Given the description of an element on the screen output the (x, y) to click on. 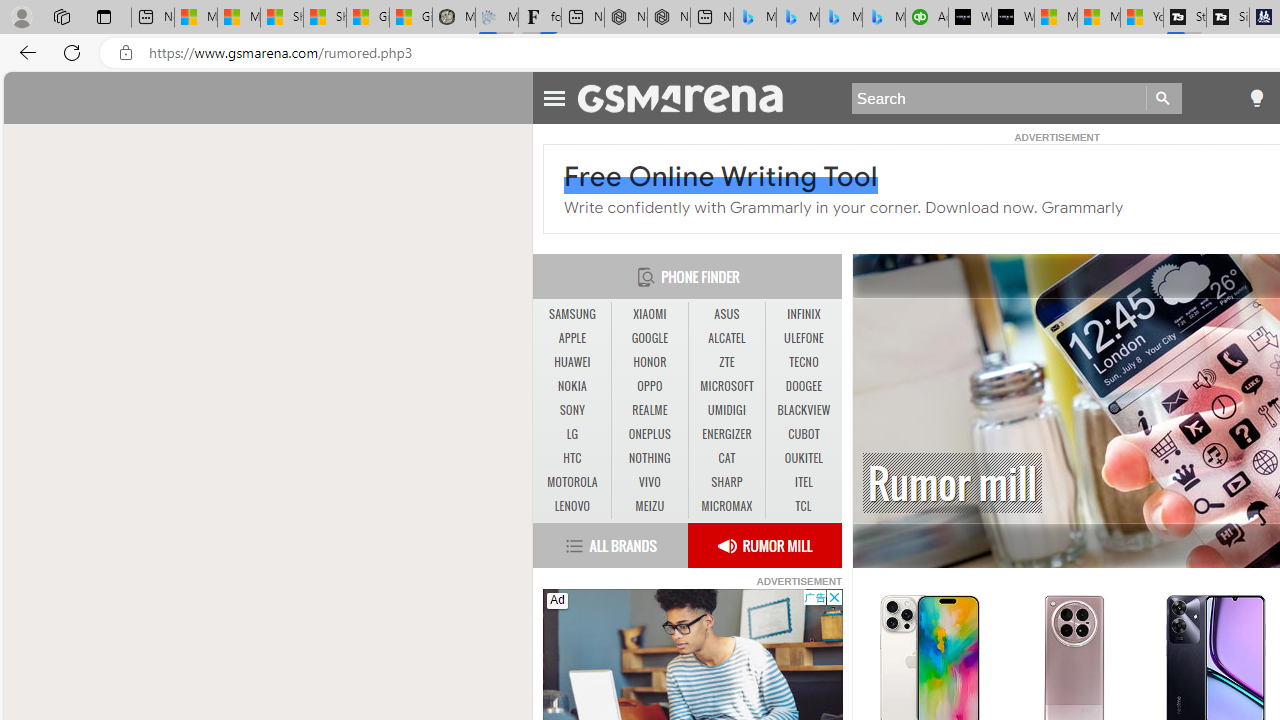
VIVO (649, 482)
Microsoft Start (1098, 17)
ENERGIZER (726, 434)
APPLE (571, 339)
XIAOMI (649, 314)
AutomationID: cbb (833, 596)
Shanghai, China weather forecast | Microsoft Weather (324, 17)
MICROMAX (726, 506)
MICROSOFT (726, 385)
